Given the description of an element on the screen output the (x, y) to click on. 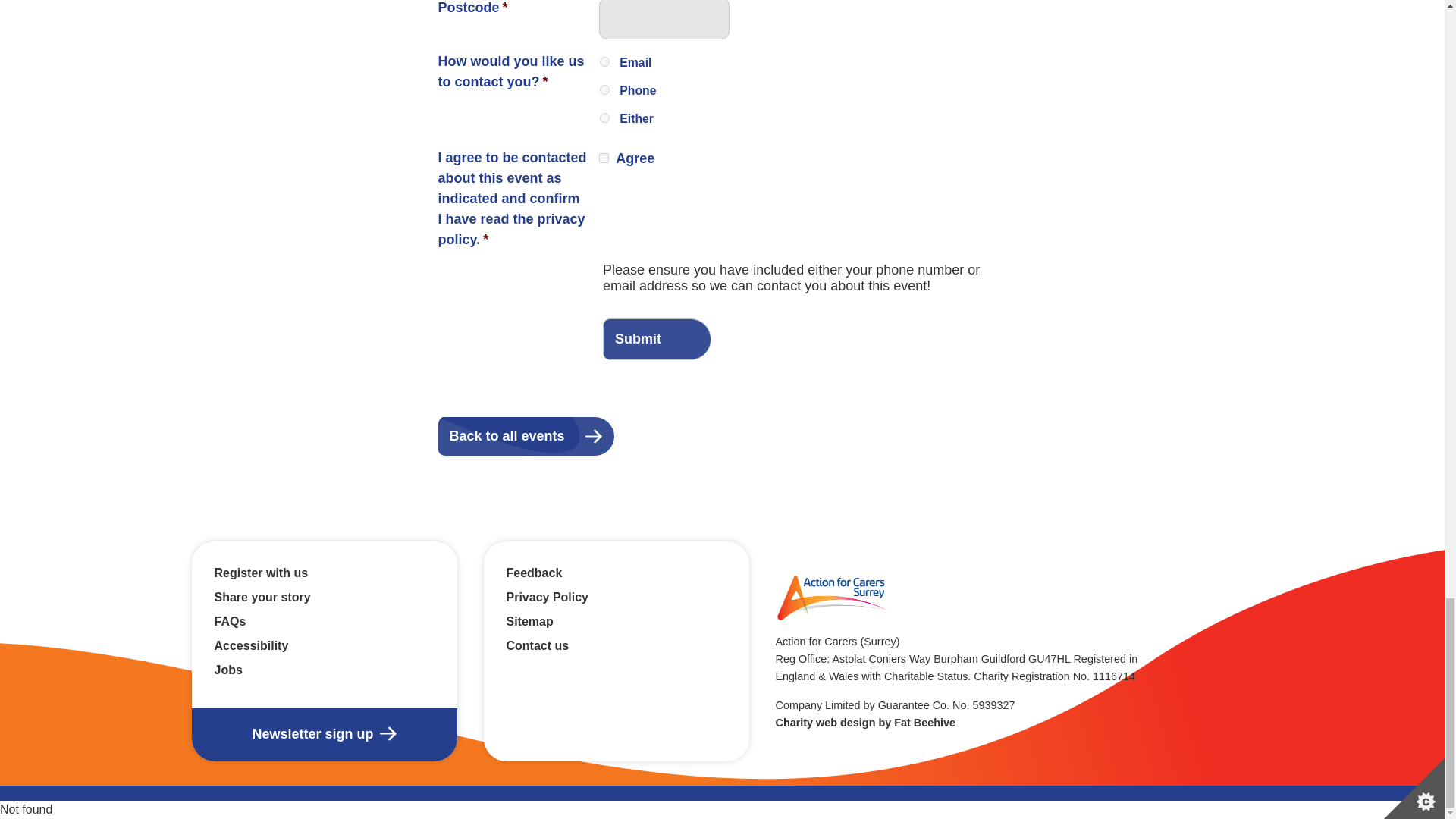
Instagram (635, 734)
Facebook (559, 734)
Submit (656, 339)
Twitter (521, 734)
Youtube (597, 734)
